Given the description of an element on the screen output the (x, y) to click on. 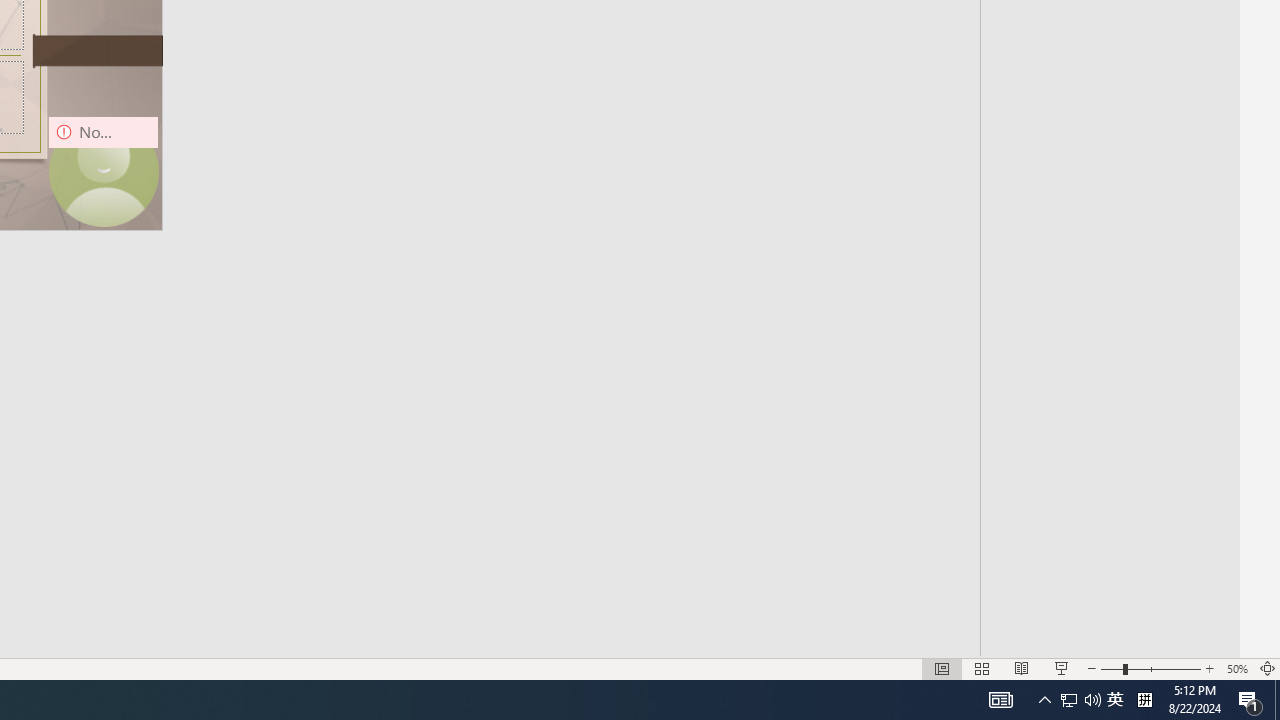
Zoom 50% (1236, 668)
Camera 9, No camera detected. (103, 171)
